Given the description of an element on the screen output the (x, y) to click on. 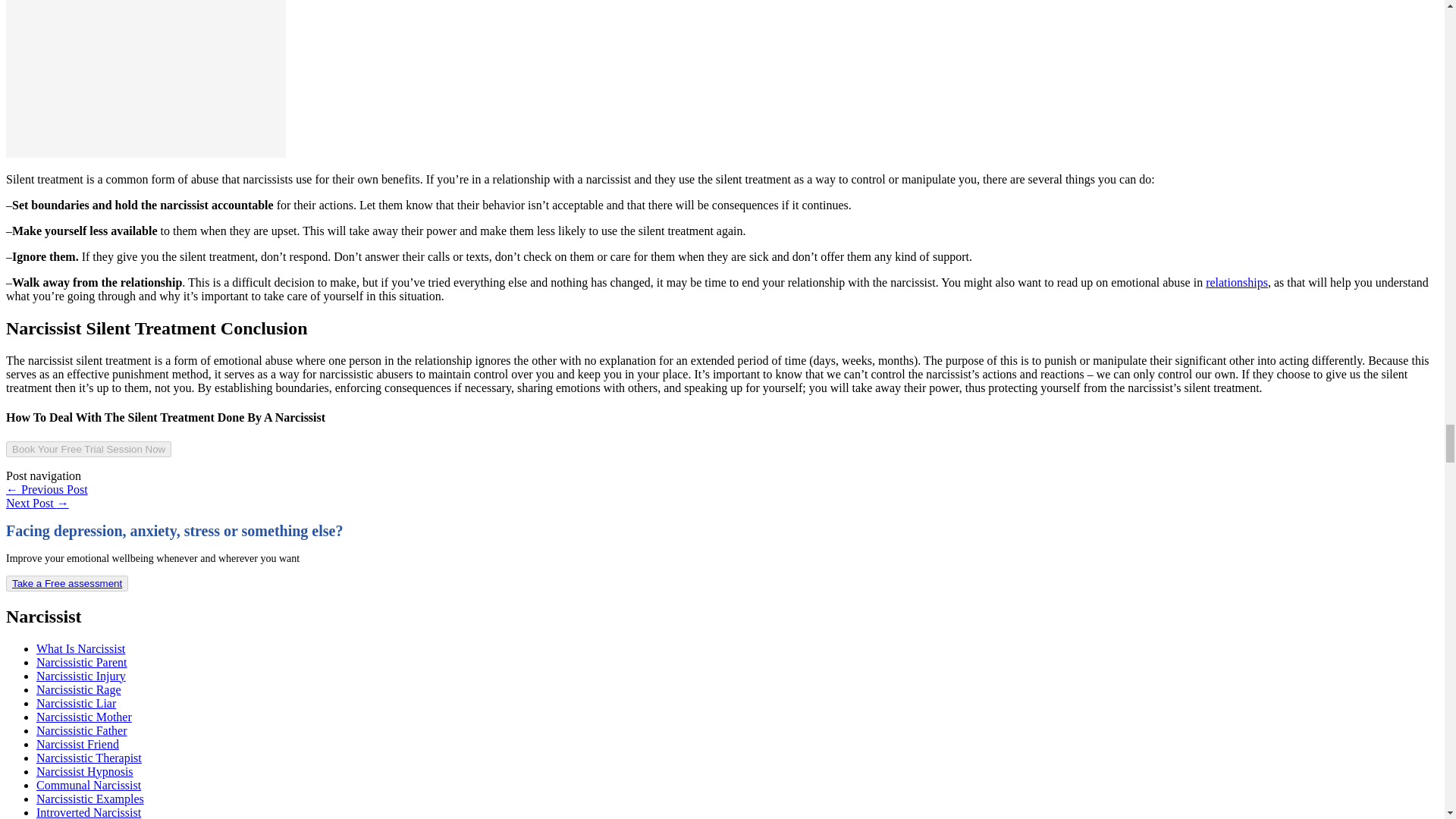
Narcissist No Contact Rule: Why And How To Follow It? (36, 502)
relationships (1236, 282)
